Given the description of an element on the screen output the (x, y) to click on. 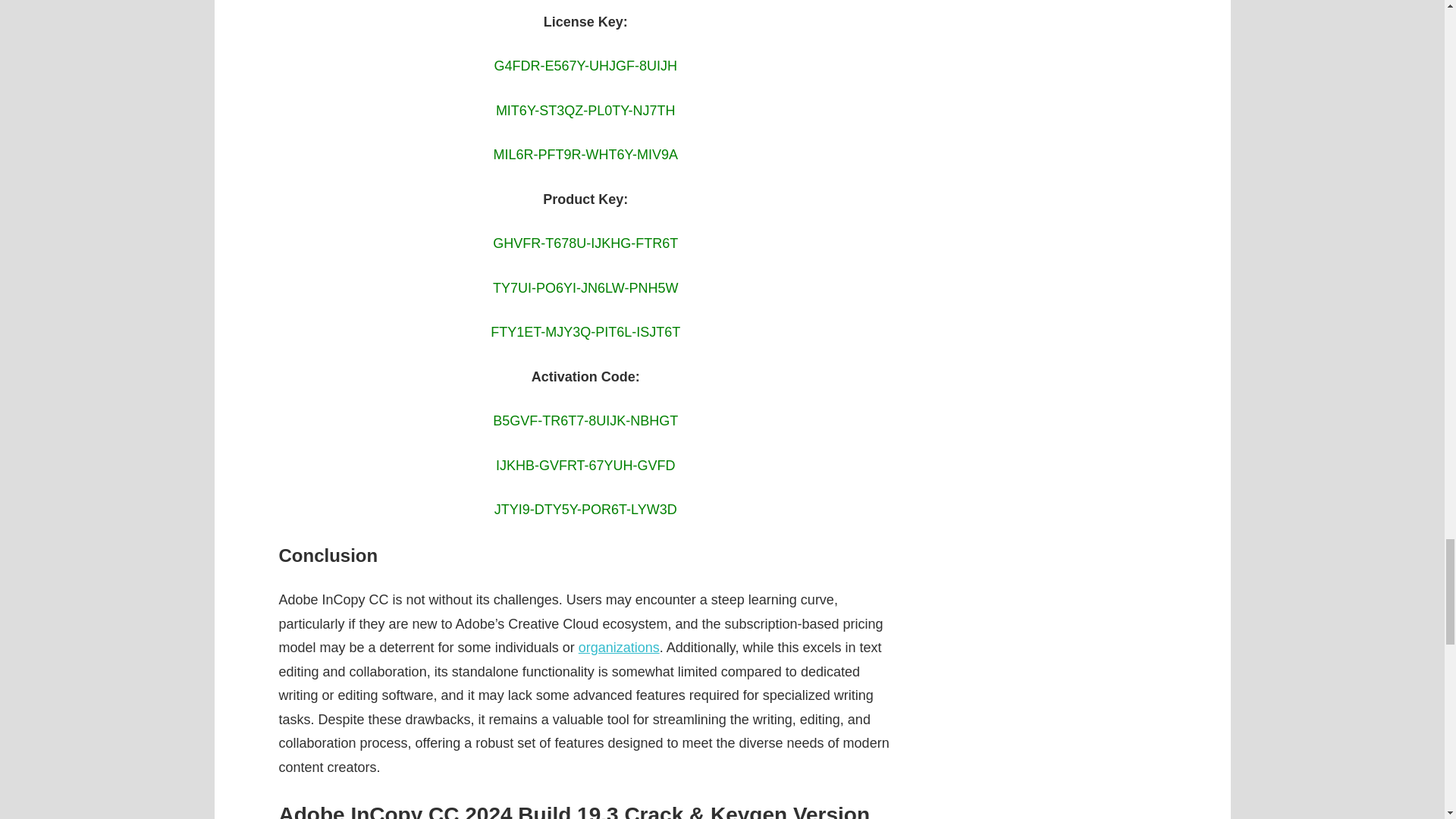
organizations (618, 647)
